Given the description of an element on the screen output the (x, y) to click on. 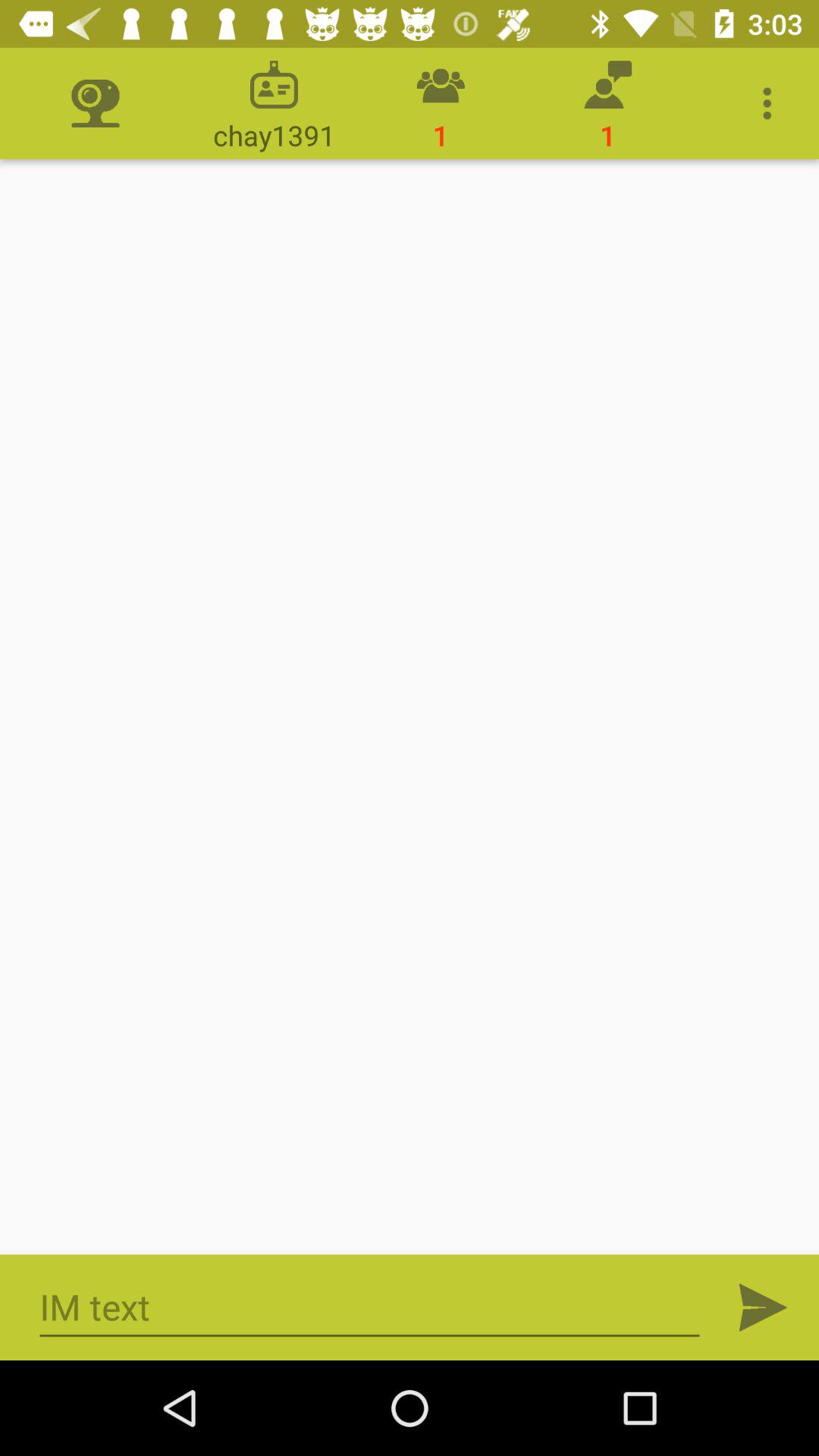
click to blank page (409, 706)
